Given the description of an element on the screen output the (x, y) to click on. 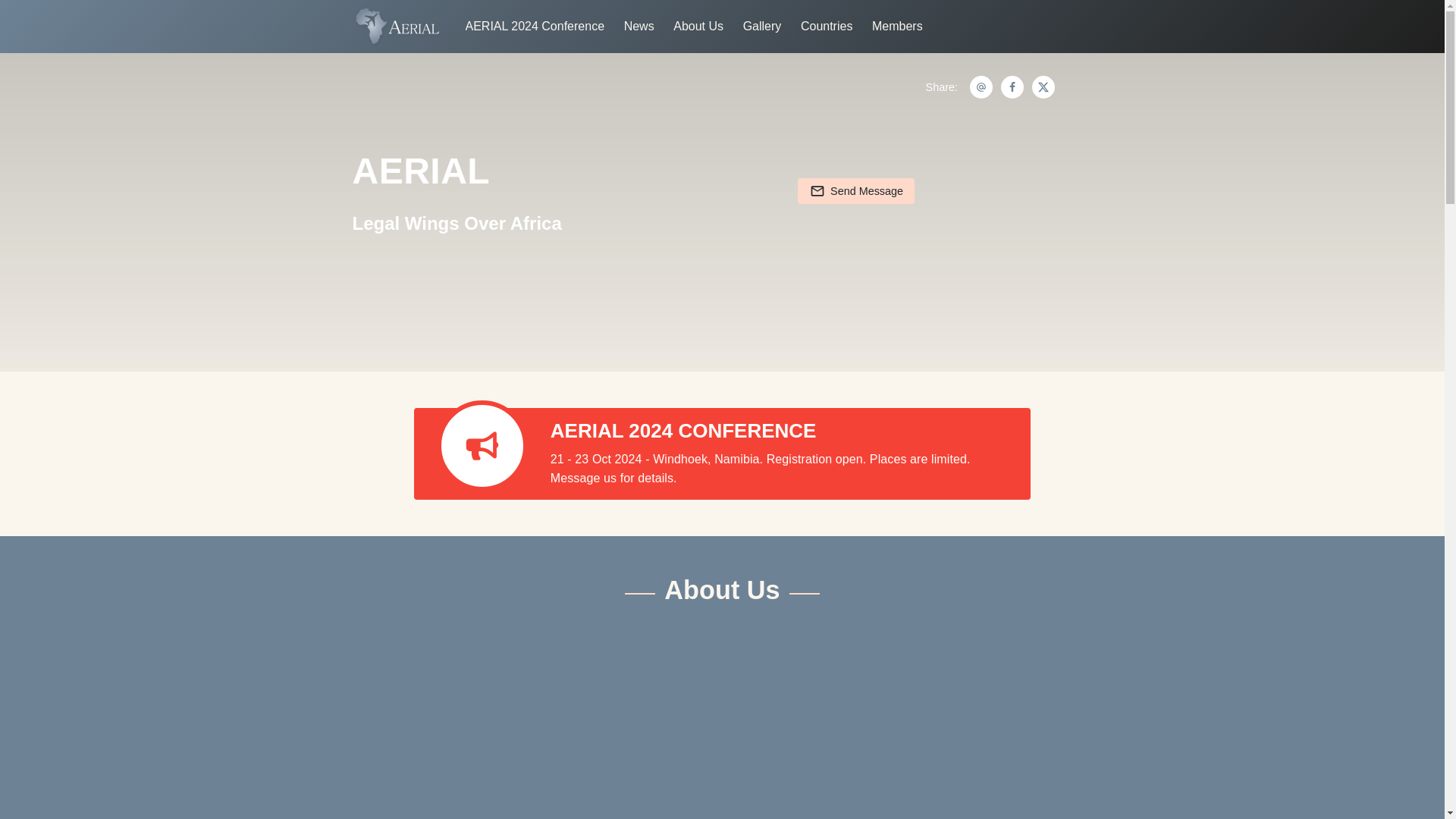
Send Message (855, 191)
Gallery (761, 26)
Countries (825, 26)
News (638, 26)
Members (897, 26)
About Us (697, 26)
AERIAL 2024 Conference (535, 26)
